Given the description of an element on the screen output the (x, y) to click on. 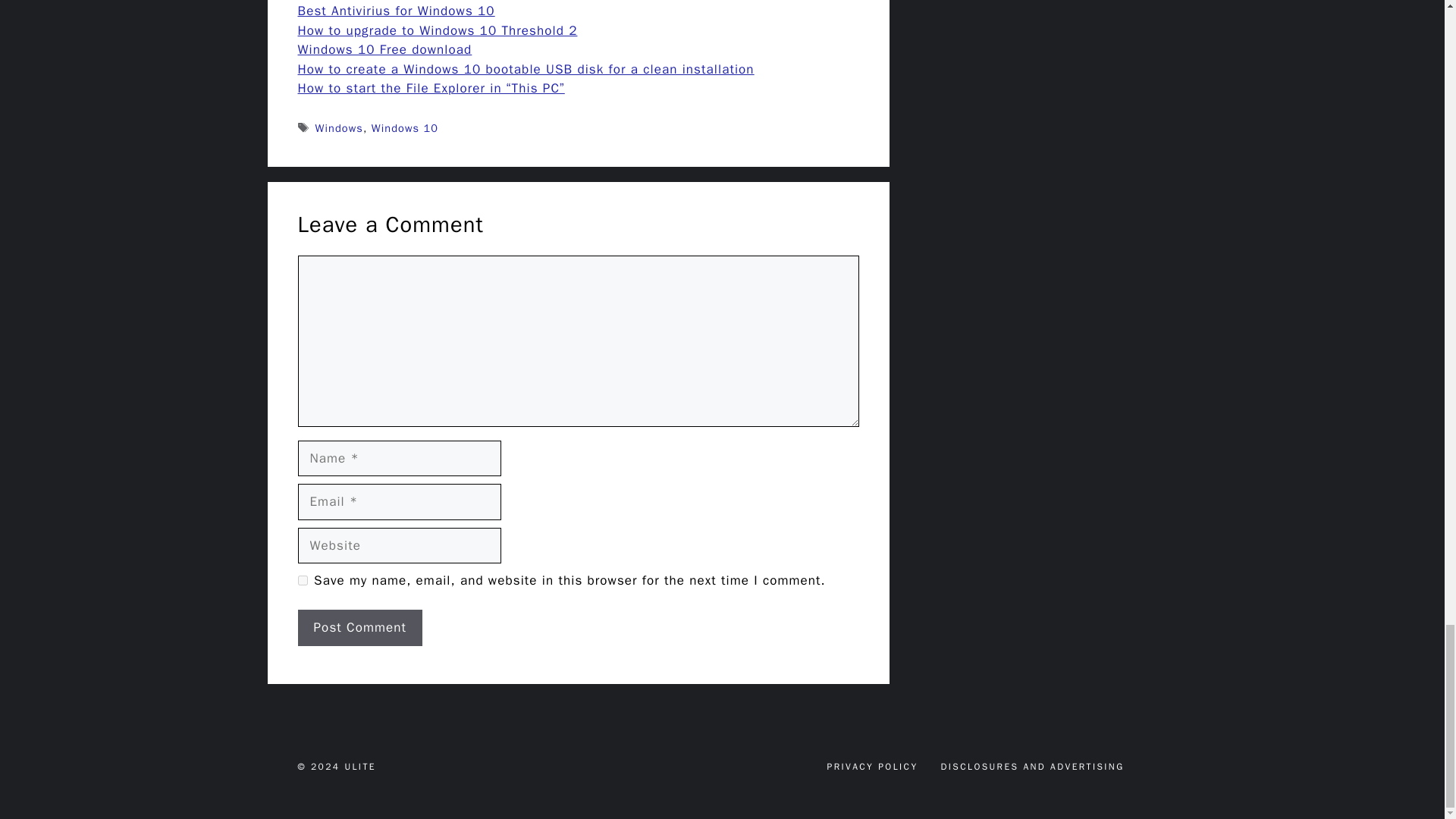
yes (302, 580)
Post Comment (359, 627)
How to upgrade to Windows 10 Threshold 2 (436, 30)
Best Antivirius for Windows 10 (396, 10)
Windows 10 Free download (384, 49)
Post Comment (359, 627)
Windows 10 (404, 128)
Windows (338, 128)
